Given the description of an element on the screen output the (x, y) to click on. 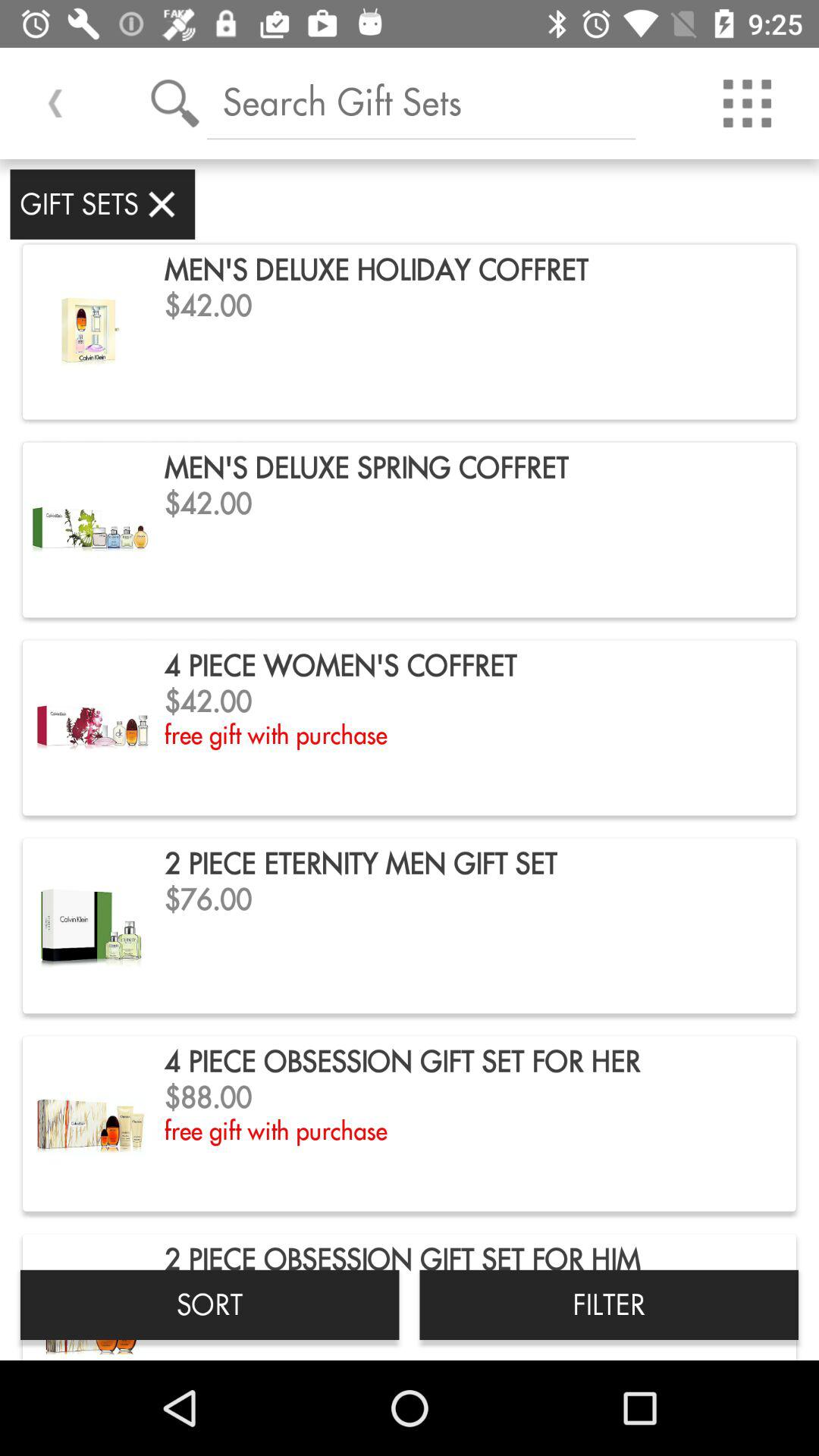
swipe to the sort item (209, 1304)
